Given the description of an element on the screen output the (x, y) to click on. 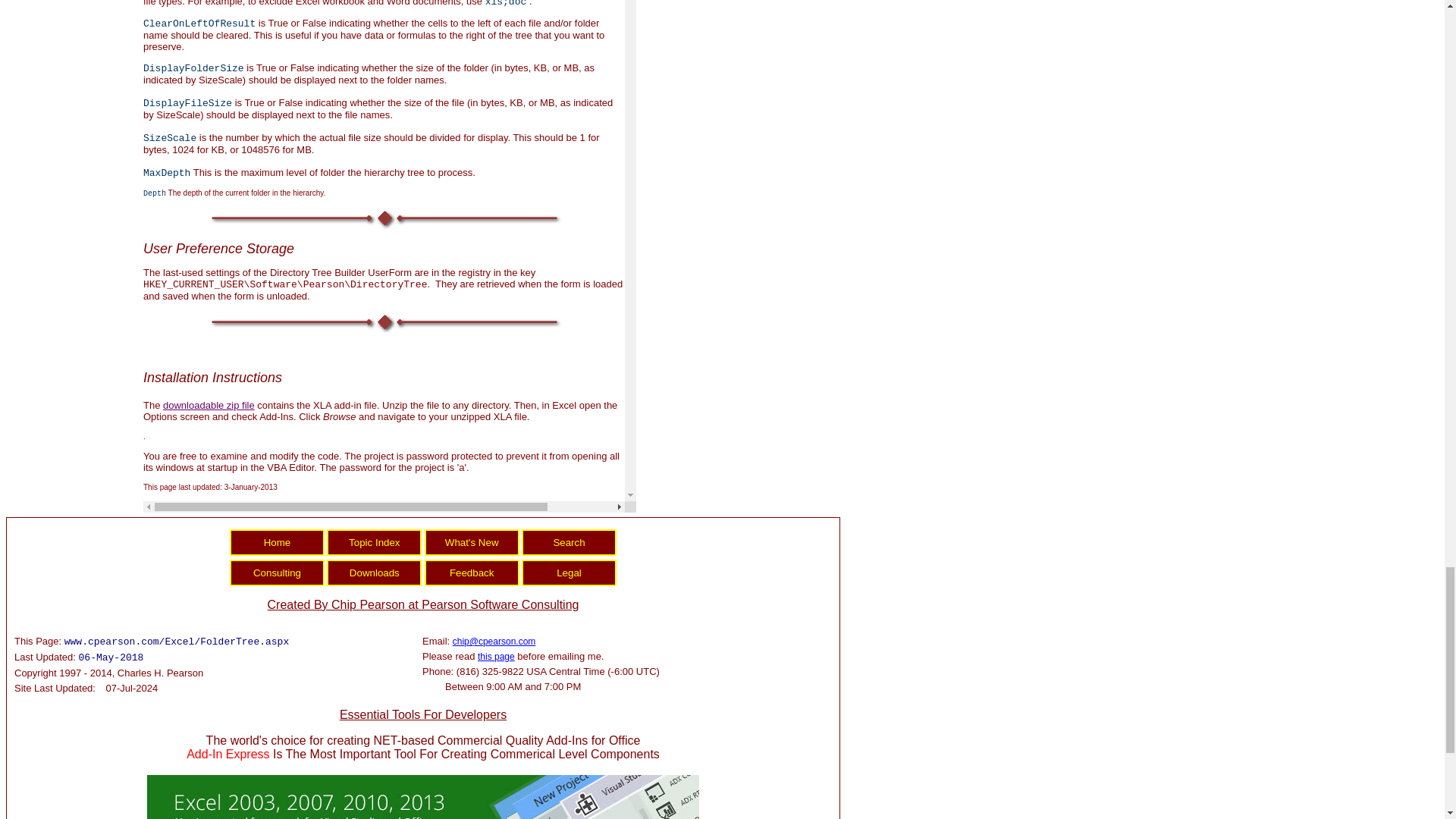
Feedback (472, 572)
Downloads (374, 572)
Consulting (277, 572)
downloadable zip file (208, 405)
Home (277, 542)
Feedback (472, 572)
Legal (568, 572)
Consulting (277, 572)
What's New (472, 542)
Search (568, 542)
Topic Index (374, 542)
Legal (568, 572)
Home (277, 542)
What's New (472, 542)
this page (496, 656)
